Given the description of an element on the screen output the (x, y) to click on. 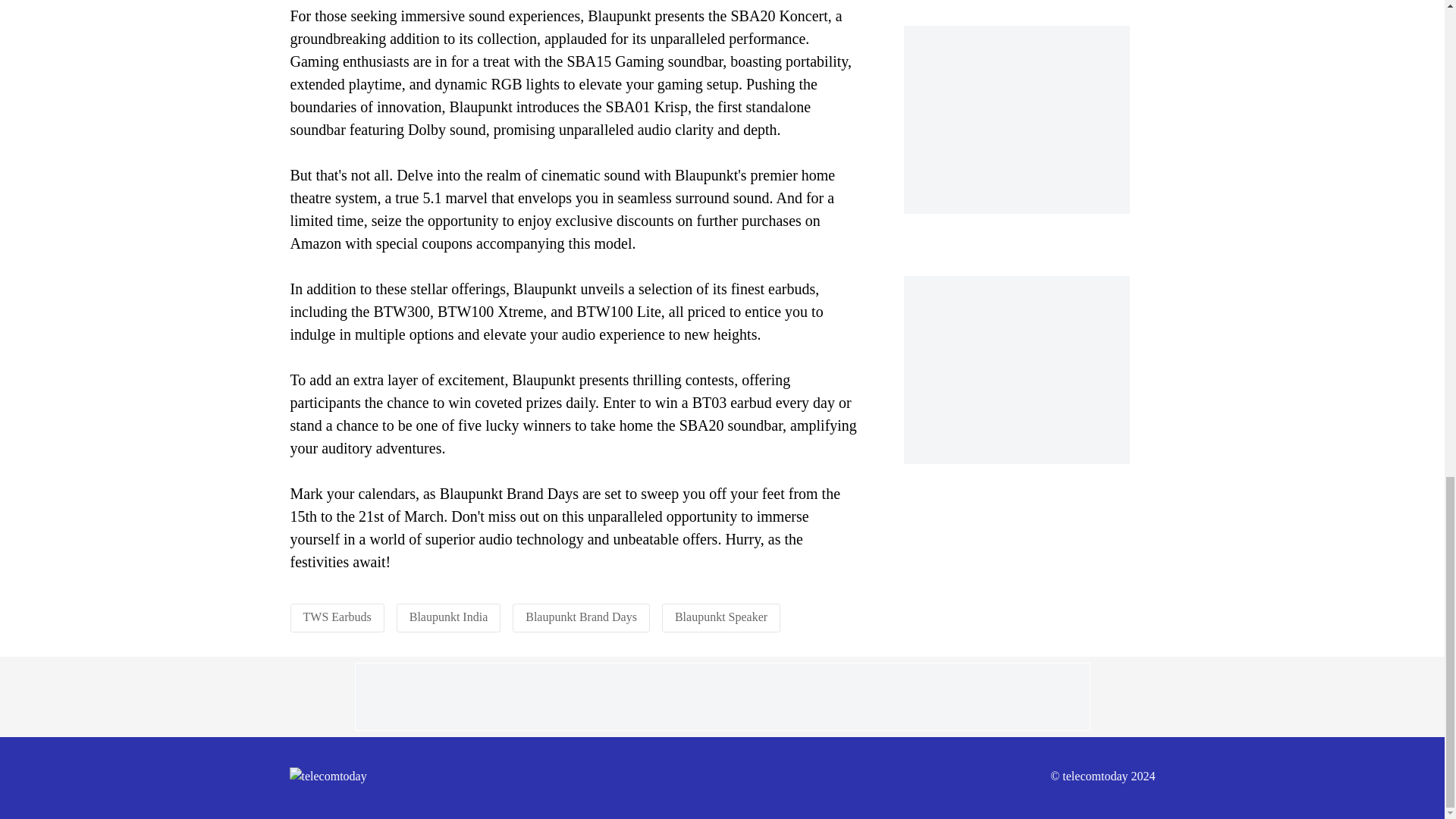
Blaupunkt Brand Days (581, 616)
Blaupunkt India (448, 616)
TWS Earbuds (336, 616)
Blaupunkt Speaker (721, 616)
